Given the description of an element on the screen output the (x, y) to click on. 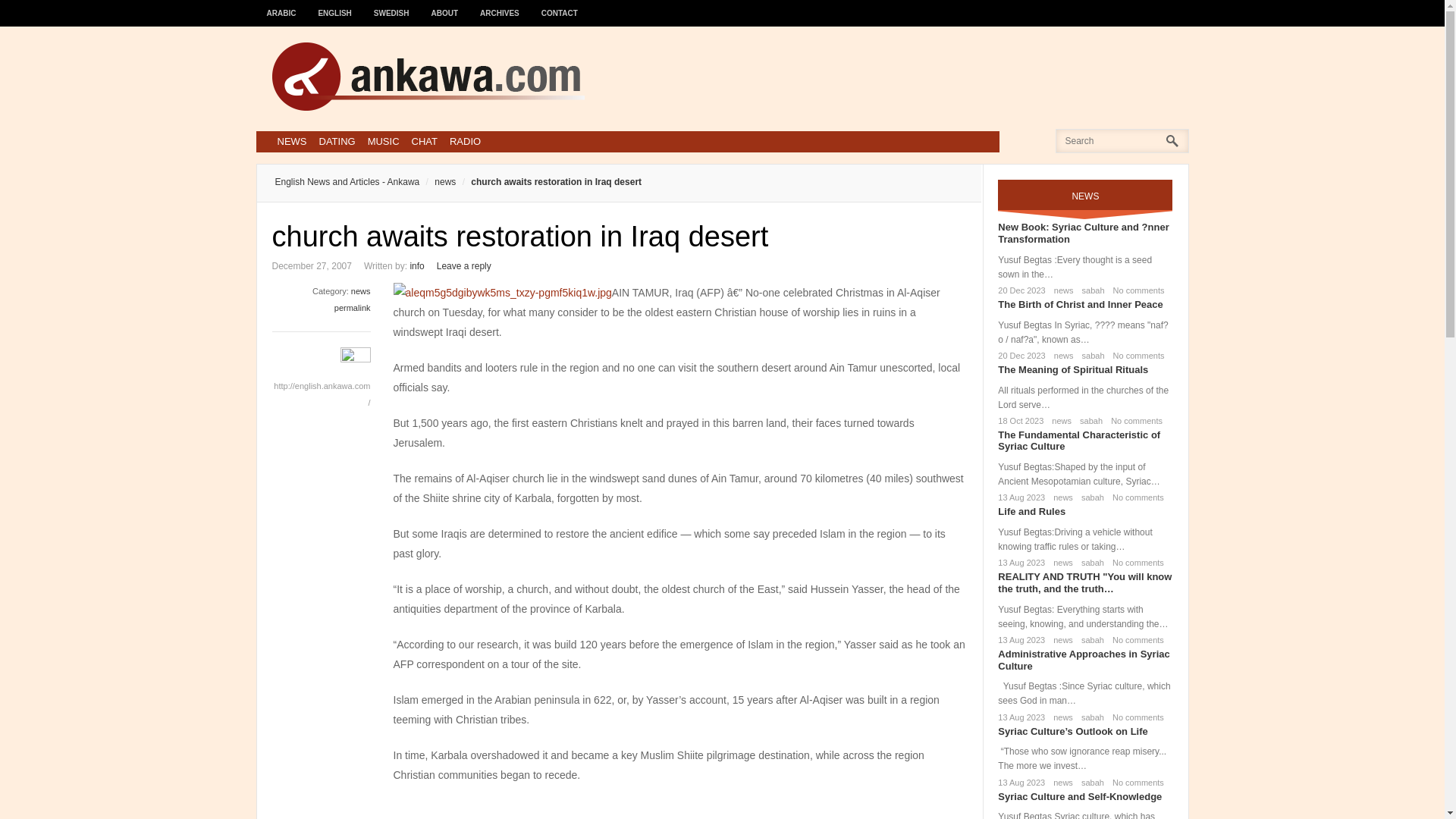
The Fundamental Characteristic of Syriac Culture (1078, 440)
NEWS (291, 141)
Advertisement (891, 76)
news (1059, 497)
sabah (1090, 355)
New Book: Syriac Culture and ?nner Transformation (1083, 232)
No comments (1135, 355)
news (437, 181)
sabah (1089, 497)
CHAT (425, 141)
New Book: Syriac Culture and ?nner Transformation (1083, 232)
news (1061, 289)
Leave a reply (464, 266)
news (360, 290)
news (1058, 420)
